Given the description of an element on the screen output the (x, y) to click on. 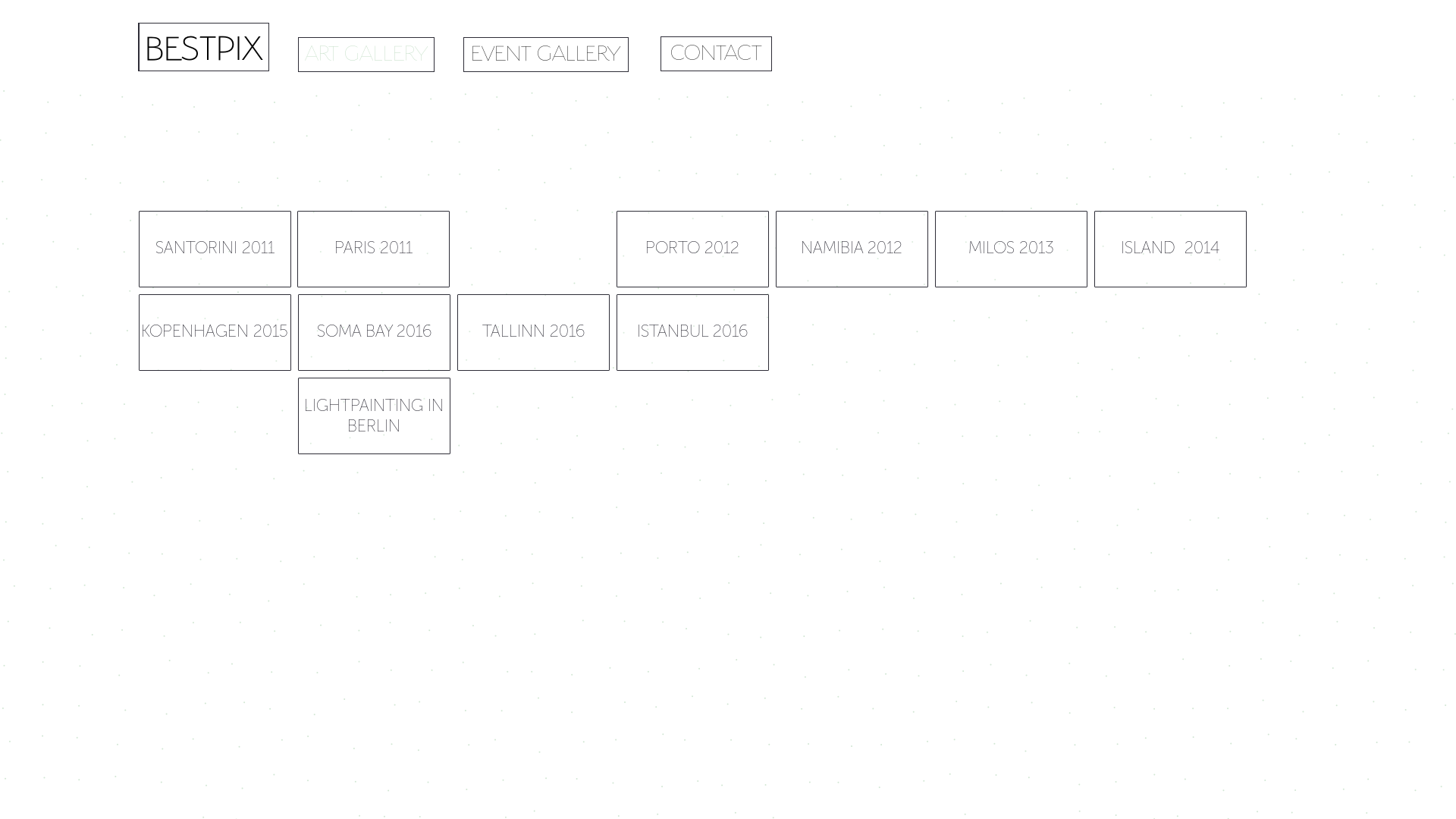
PORTO 2012 Element type: text (691, 248)
EVENT GALLERY Element type: text (544, 54)
NAMIBIA 2012 Element type: text (851, 248)
ISTANBUL 2016 Element type: text (691, 332)
MILOS 2013 Element type: text (1010, 248)
SOMA BAY 2016 Element type: text (373, 332)
ART GALLERY Element type: text (365, 54)
TALLINN 2016 Element type: text (532, 332)
KOPENHAGEN 2015 Element type: text (214, 332)
PARIS 2011 Element type: text (373, 248)
CONTACT Element type: text (715, 53)
SANTORINI 2011 Element type: text (214, 248)
HOME Element type: text (203, 46)
LIGHTPAINTING IN BERLIN Element type: text (373, 415)
ISLAND  2014 Element type: text (1169, 248)
